Given the description of an element on the screen output the (x, y) to click on. 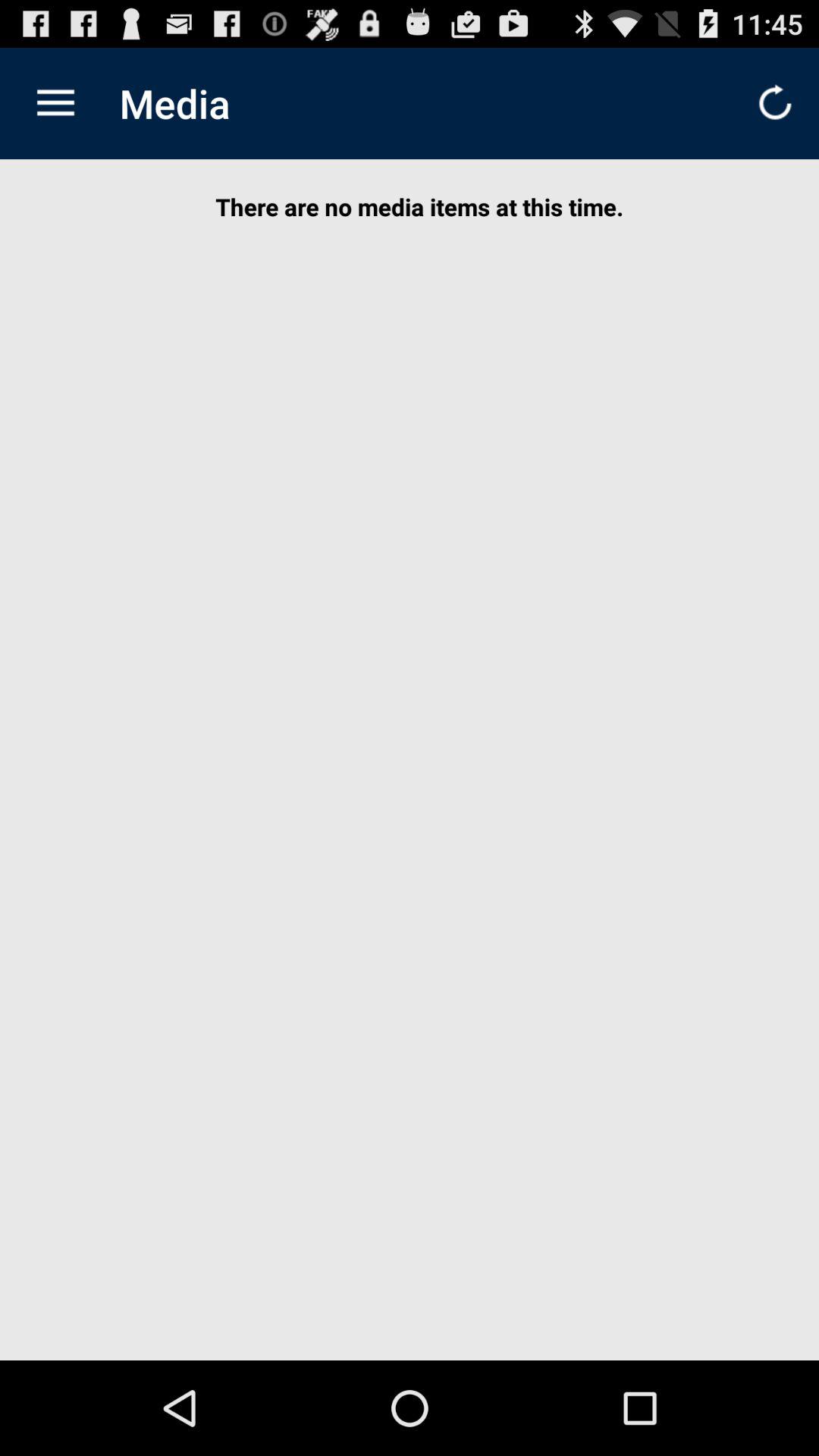
turn off icon to the left of the media item (55, 103)
